Given the description of an element on the screen output the (x, y) to click on. 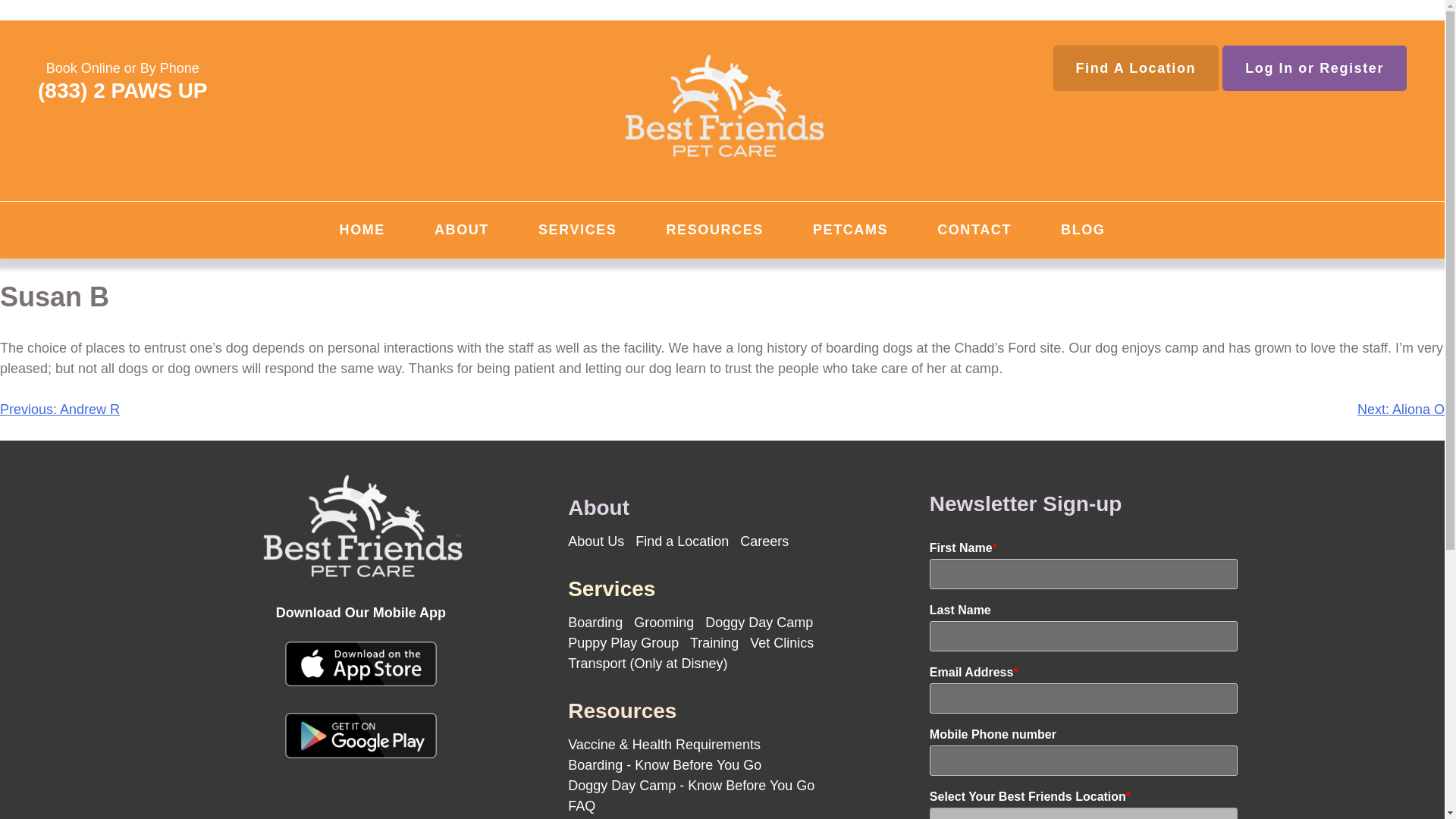
SERVICES (577, 229)
Find A Location (1136, 67)
Log In or Register (1314, 67)
ABOUT (462, 229)
HOME (362, 229)
